Given the description of an element on the screen output the (x, y) to click on. 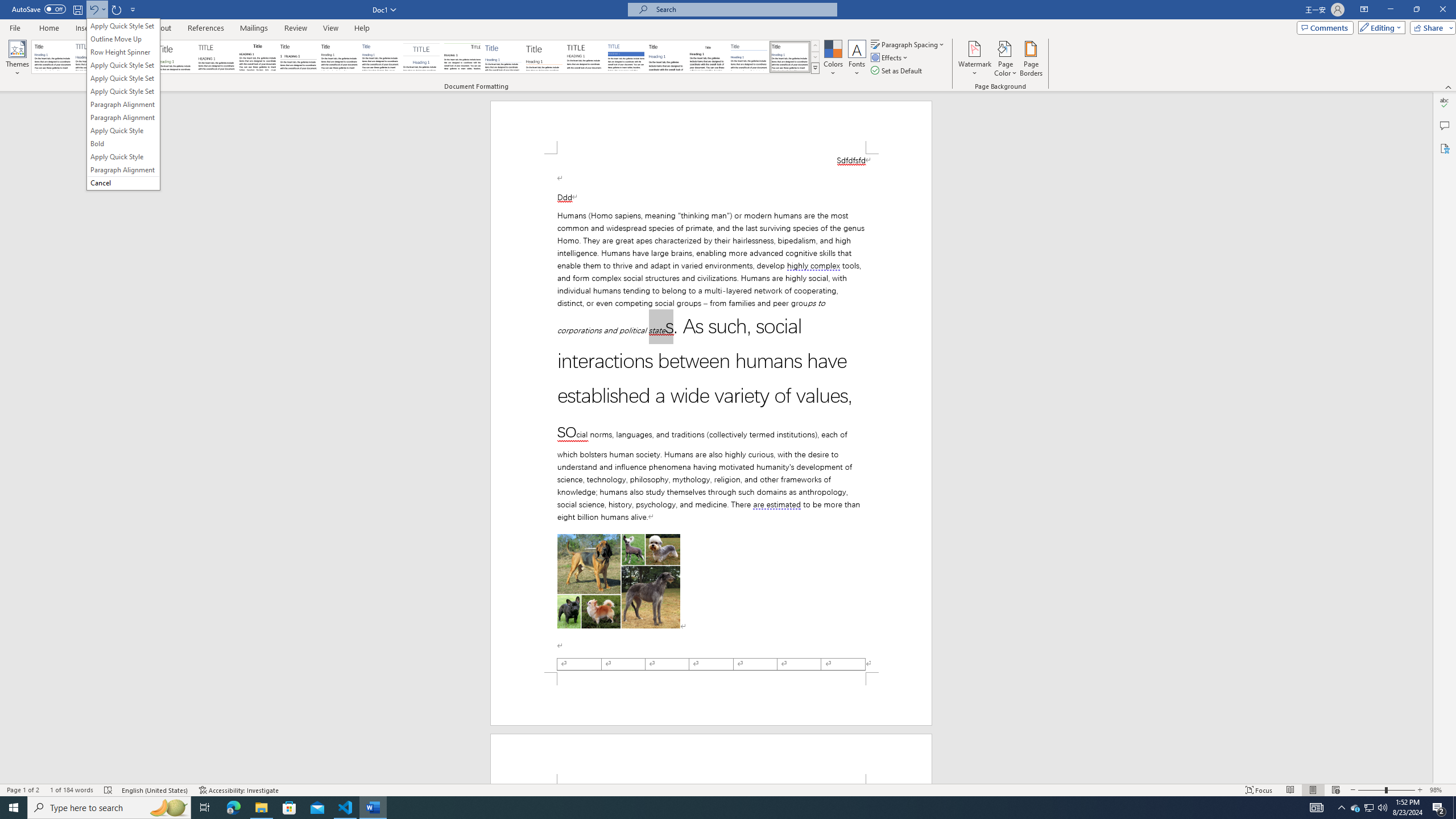
Repeat Accessibility Checker (117, 9)
Themes (17, 58)
Undo Apply Quick Style Set (92, 9)
Style Set (814, 67)
Page Borders... (1031, 58)
